Given the description of an element on the screen output the (x, y) to click on. 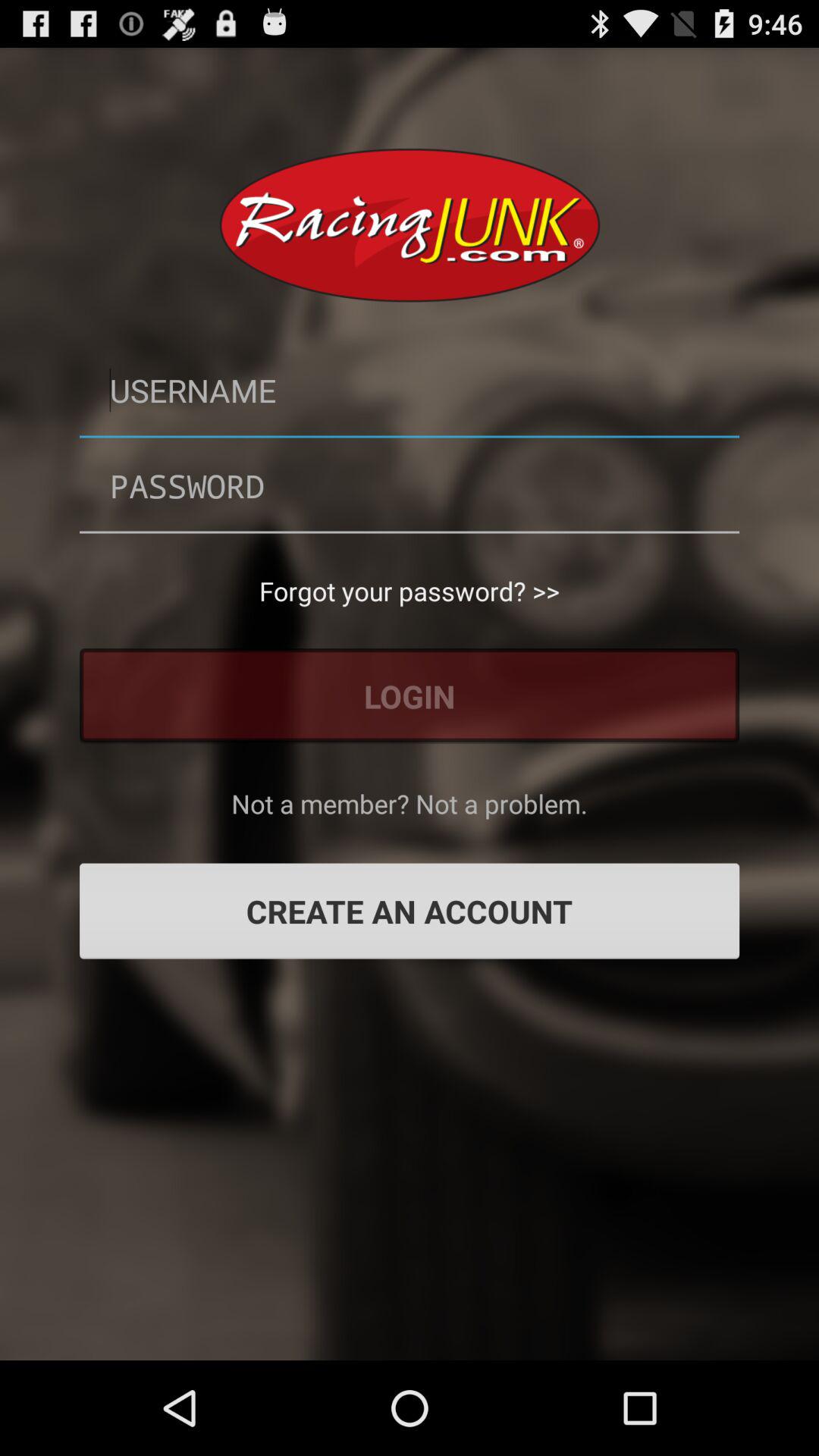
click create an account icon (409, 910)
